Given the description of an element on the screen output the (x, y) to click on. 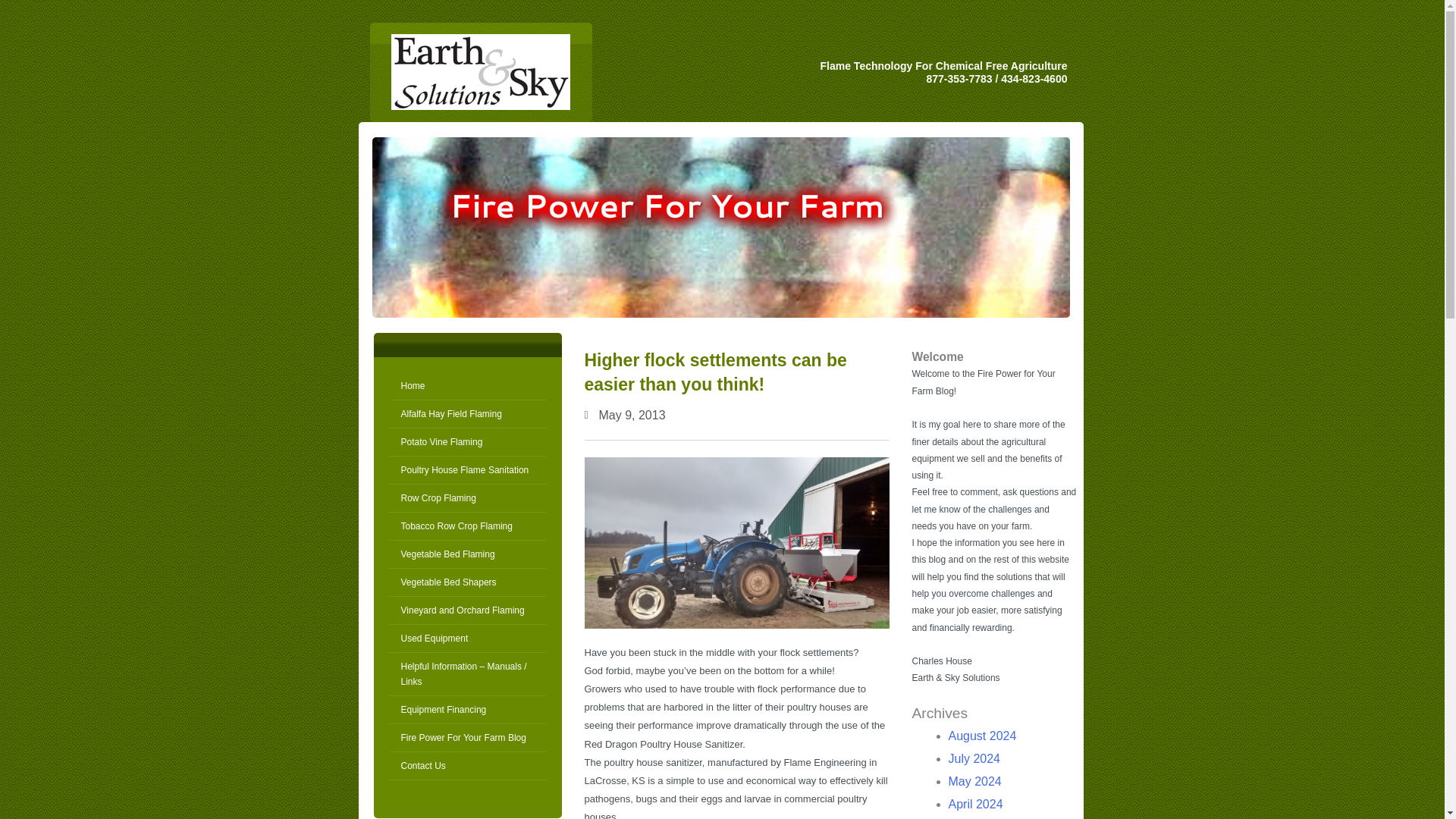
Vineyard and Orchard Flaming (467, 610)
Contact Us (467, 766)
April 2024 (975, 803)
Alfalfa Hay Field Flaming (467, 414)
May 9, 2013 (624, 415)
Row Crop Flaming (467, 498)
May 2024 (974, 780)
Tobacco Row Crop Flaming (467, 526)
August 2024 (981, 735)
July 2024 (973, 758)
